Given the description of an element on the screen output the (x, y) to click on. 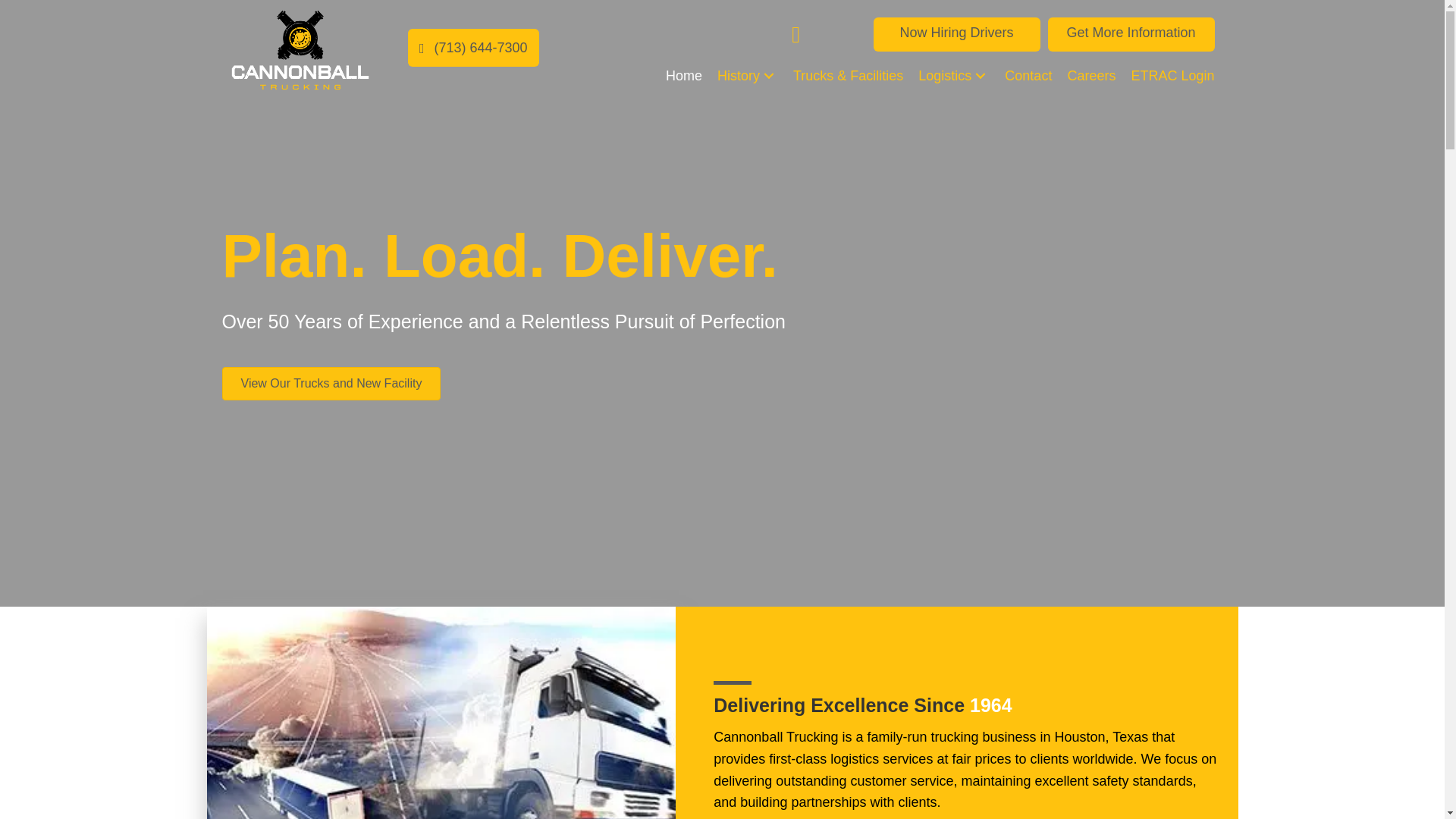
New Logo (299, 50)
Logistics (954, 76)
Home (684, 76)
ETRAC Login (1171, 76)
Now Hiring Drivers (957, 34)
History (748, 76)
Careers (1090, 76)
Get More Information (1131, 34)
service01-p7ckaro7ord7nldgq1brdqvlnzte6vashbswvv16k0 (440, 712)
Contact (1028, 76)
